Given the description of an element on the screen output the (x, y) to click on. 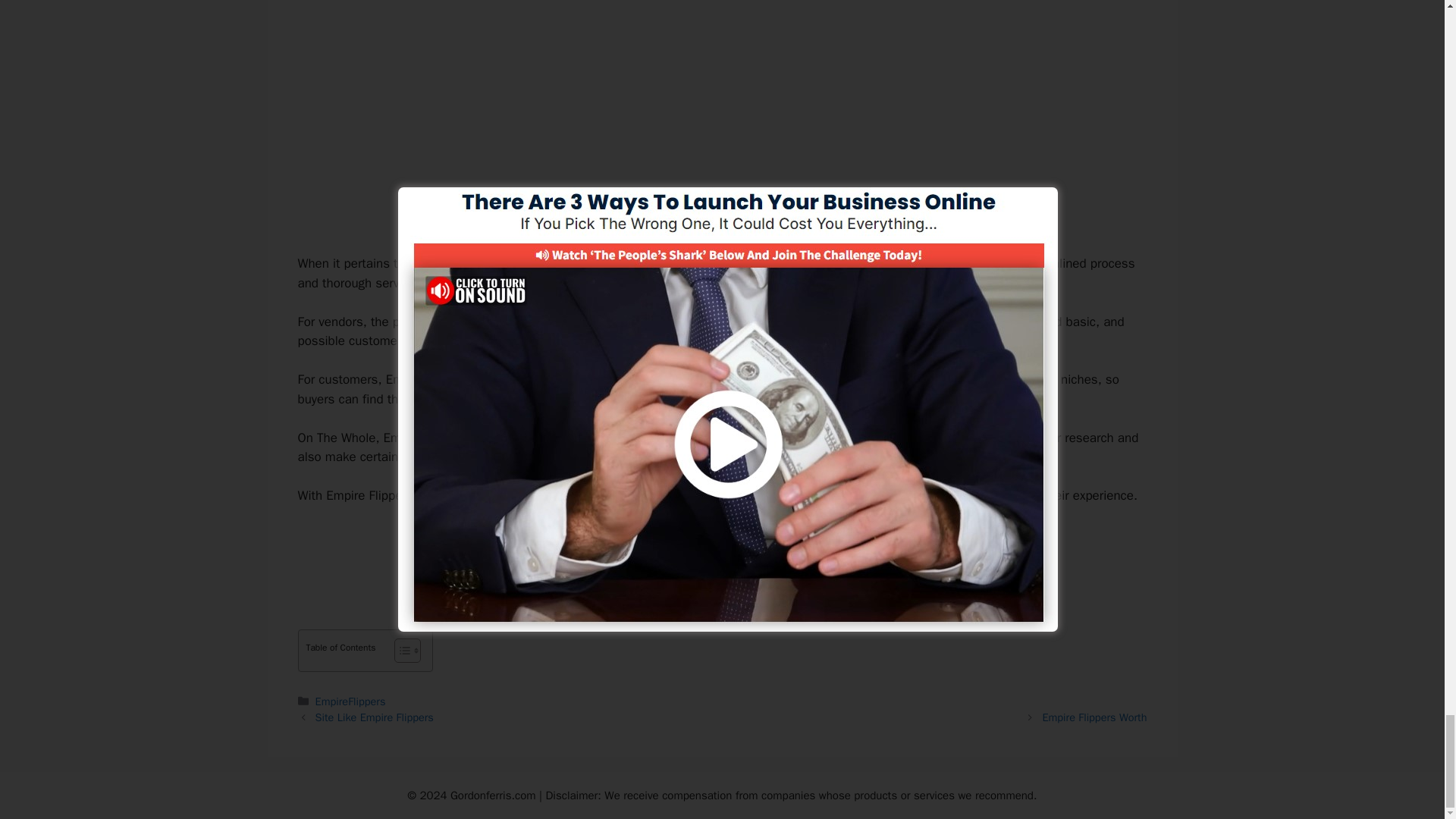
Empire Flippers Worth (1094, 716)
Site Like Empire Flippers (374, 716)
Start Your Free Empire Flippers Account Today (721, 547)
offering an online business (755, 437)
EmpireFlippers (350, 701)
online business (566, 263)
